Given the description of an element on the screen output the (x, y) to click on. 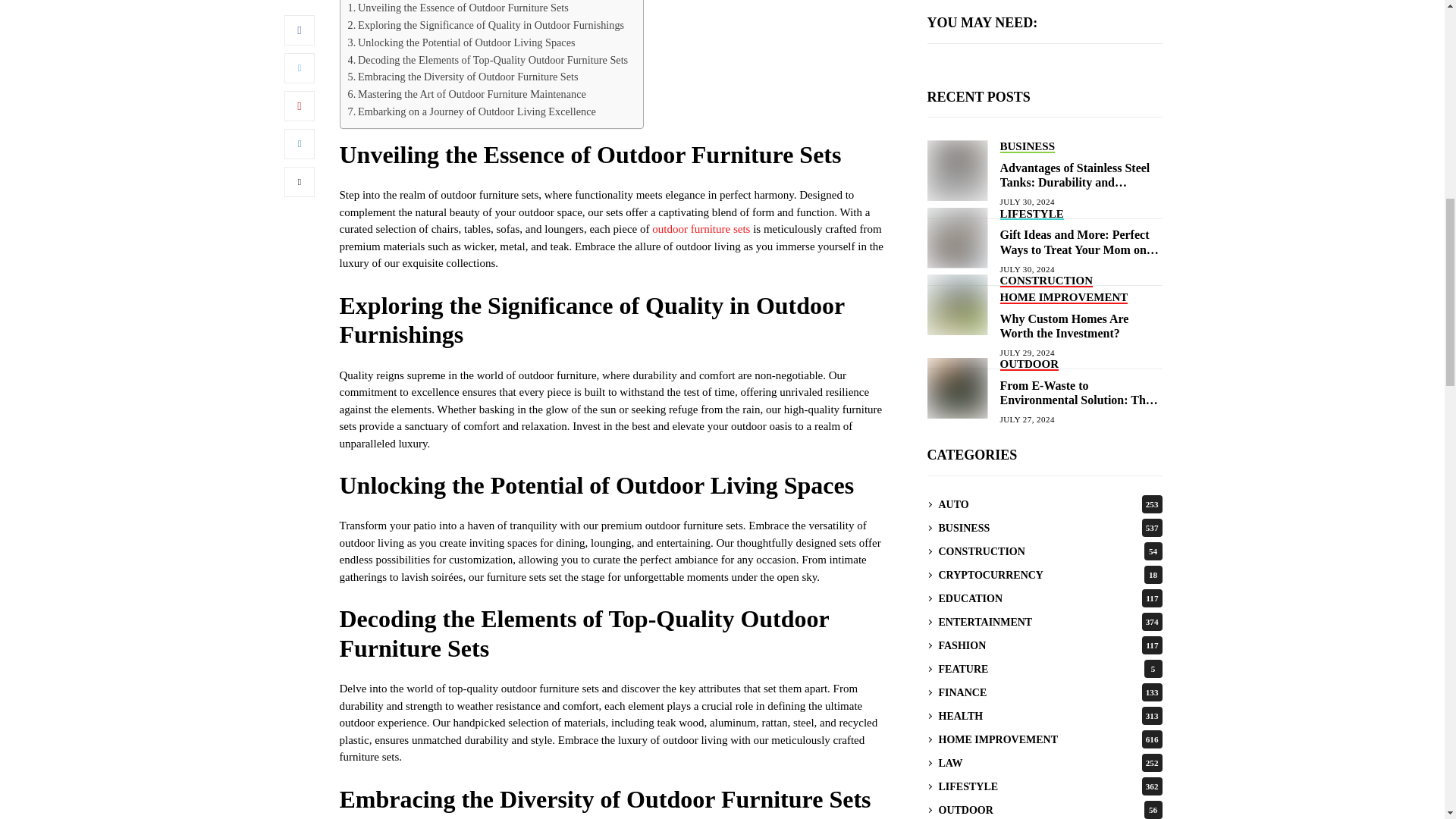
Unlocking the Potential of Outdoor Living Spaces (461, 42)
Exploring the Significance of Quality in Outdoor Furnishings (485, 25)
Embracing the Diversity of Outdoor Furniture Sets (462, 76)
Mastering the Art of Outdoor Furniture Maintenance (466, 94)
Unveiling the Essence of Outdoor Furniture Sets (457, 8)
Embarking on a Journey of Outdoor Living Excellence (471, 111)
Decoding the Elements of Top-Quality Outdoor Furniture Sets (487, 59)
